Given the description of an element on the screen output the (x, y) to click on. 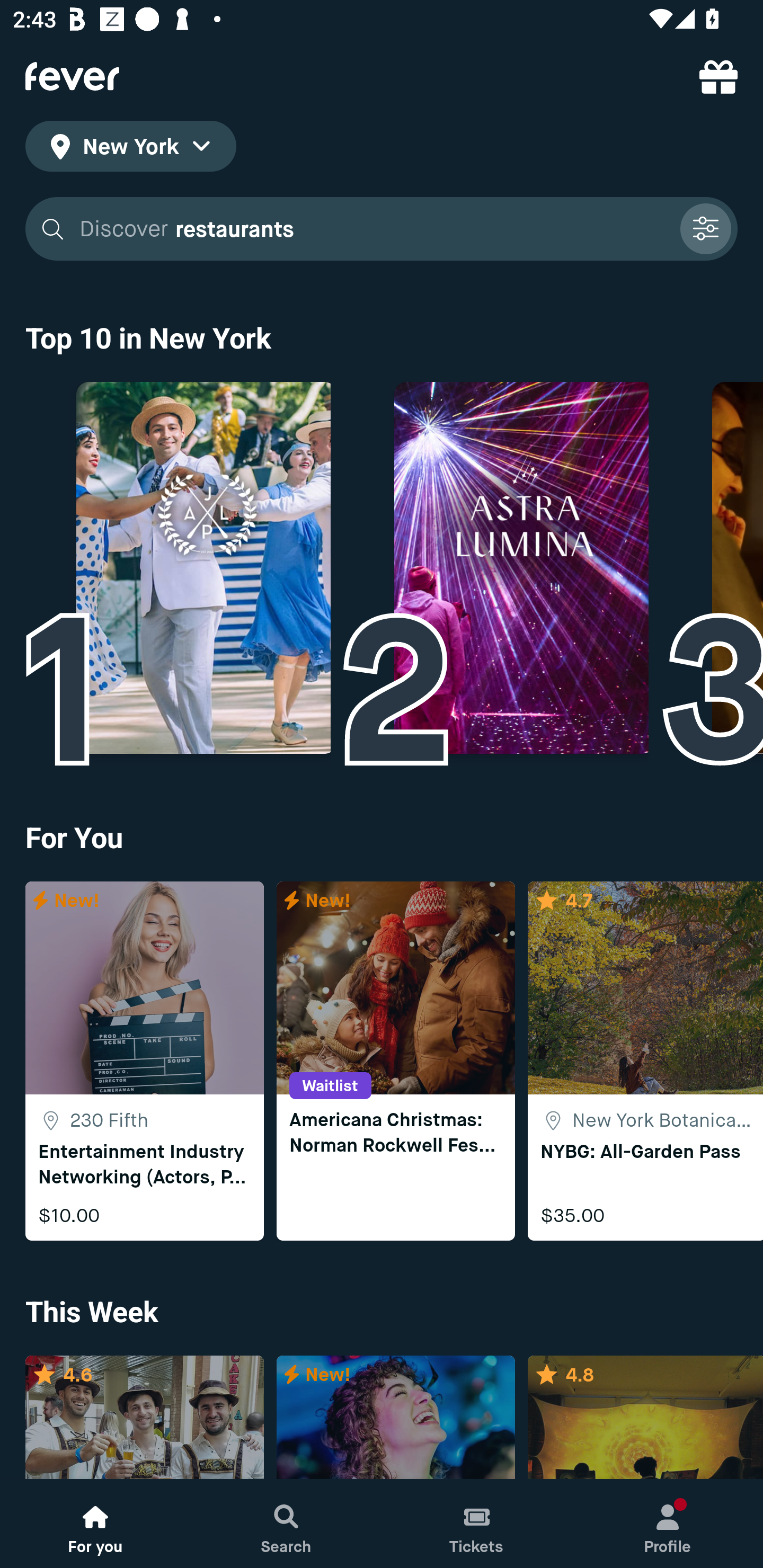
referral (718, 75)
location icon New York location icon (130, 149)
Discover restaurants (381, 228)
Discover restaurants (373, 228)
cover image 50.0 4.6 (144, 1417)
cover image New! label New! (395, 1417)
cover image 50.0 4.8 (645, 1417)
Search (285, 1523)
Tickets (476, 1523)
Profile, New notification Profile (667, 1523)
